Given the description of an element on the screen output the (x, y) to click on. 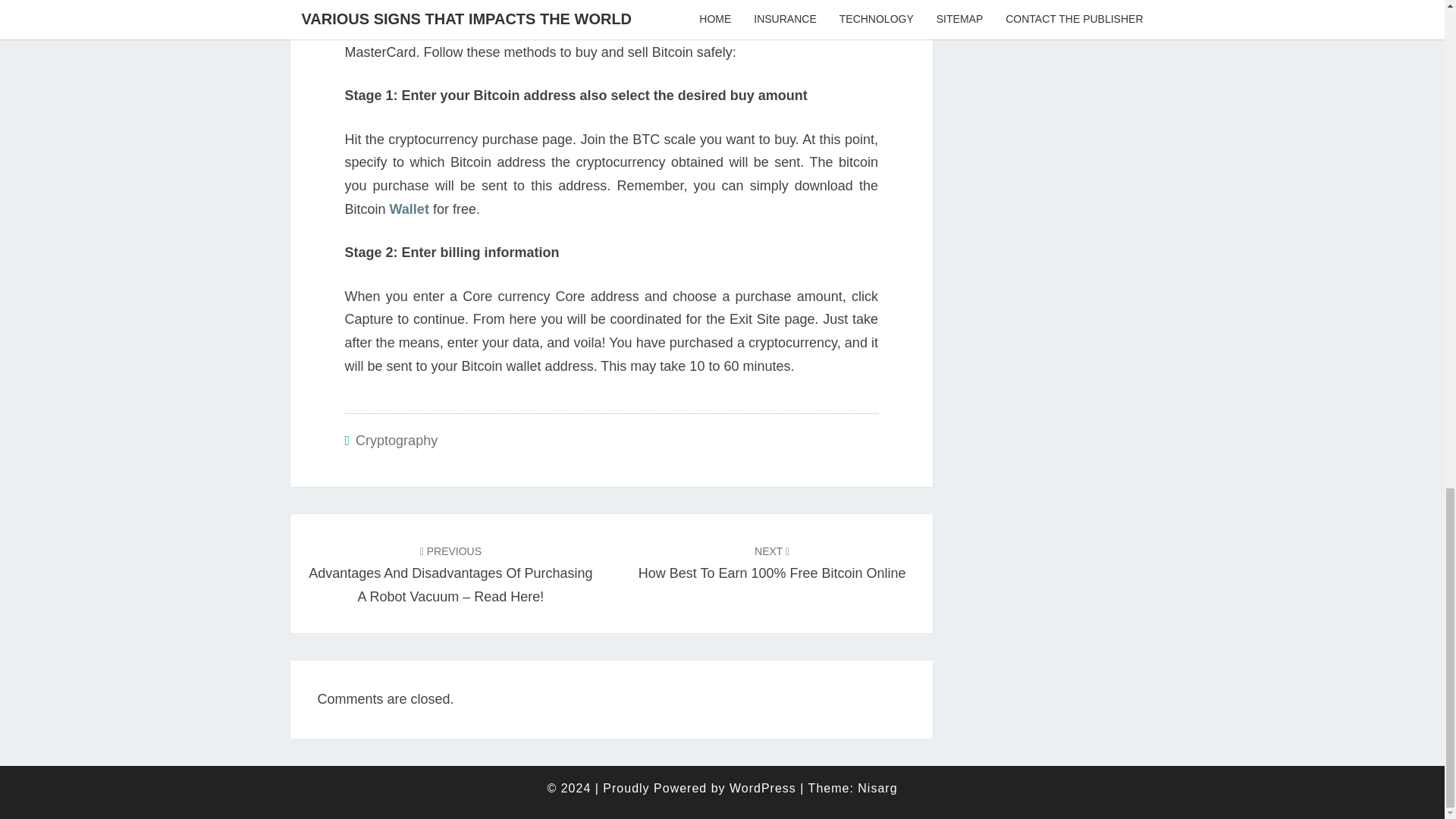
Nisarg (876, 788)
WordPress (762, 788)
Cryptography (396, 440)
Wallet (409, 209)
